Given the description of an element on the screen output the (x, y) to click on. 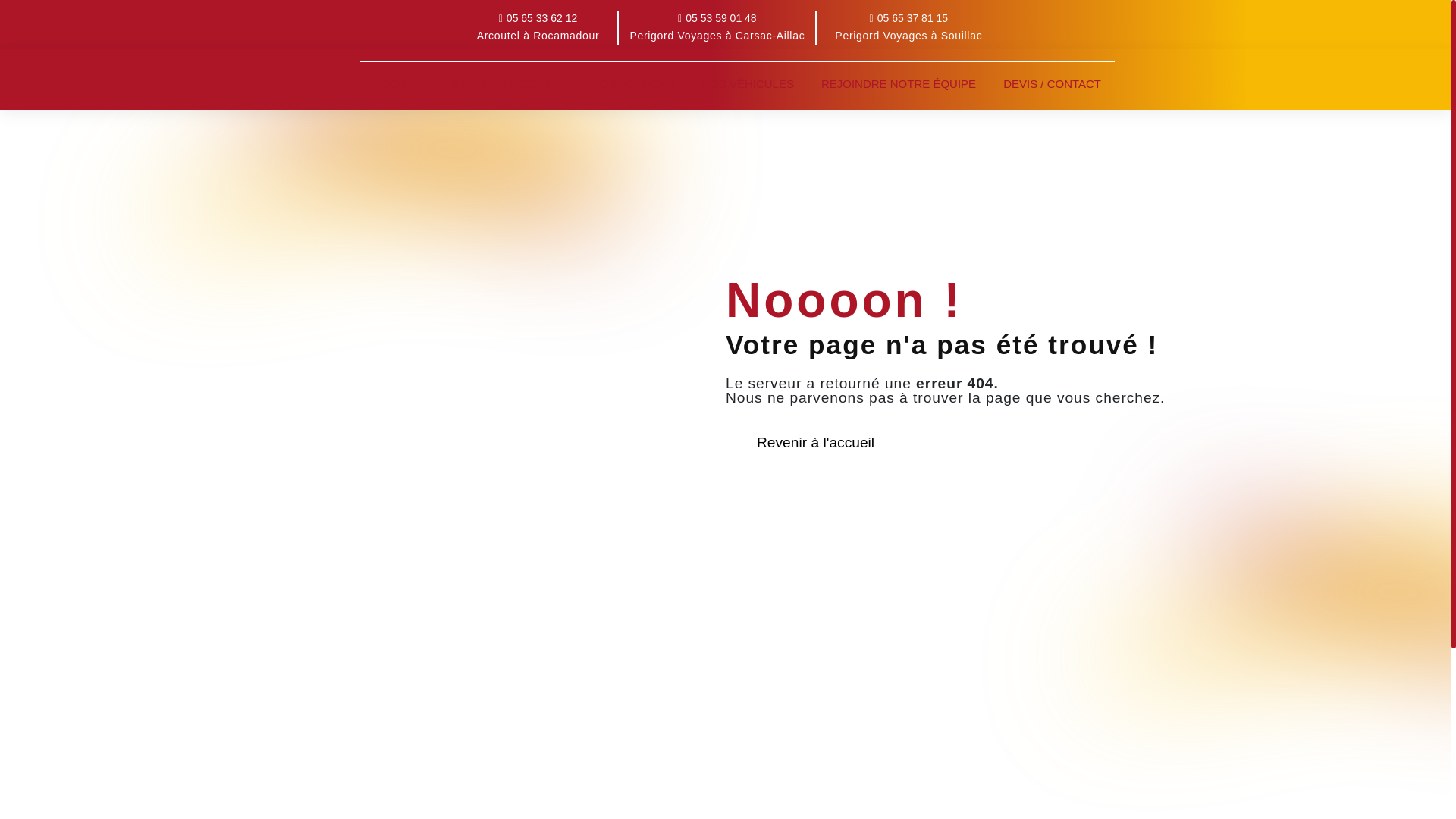
GROUPE ARCOUTEL (507, 84)
ACCUEIL (398, 84)
NOS AGENCES (632, 84)
05 53 59 01 48 (717, 18)
05 65 33 62 12 (538, 18)
05 65 37 81 15 (909, 18)
